Given the description of an element on the screen output the (x, y) to click on. 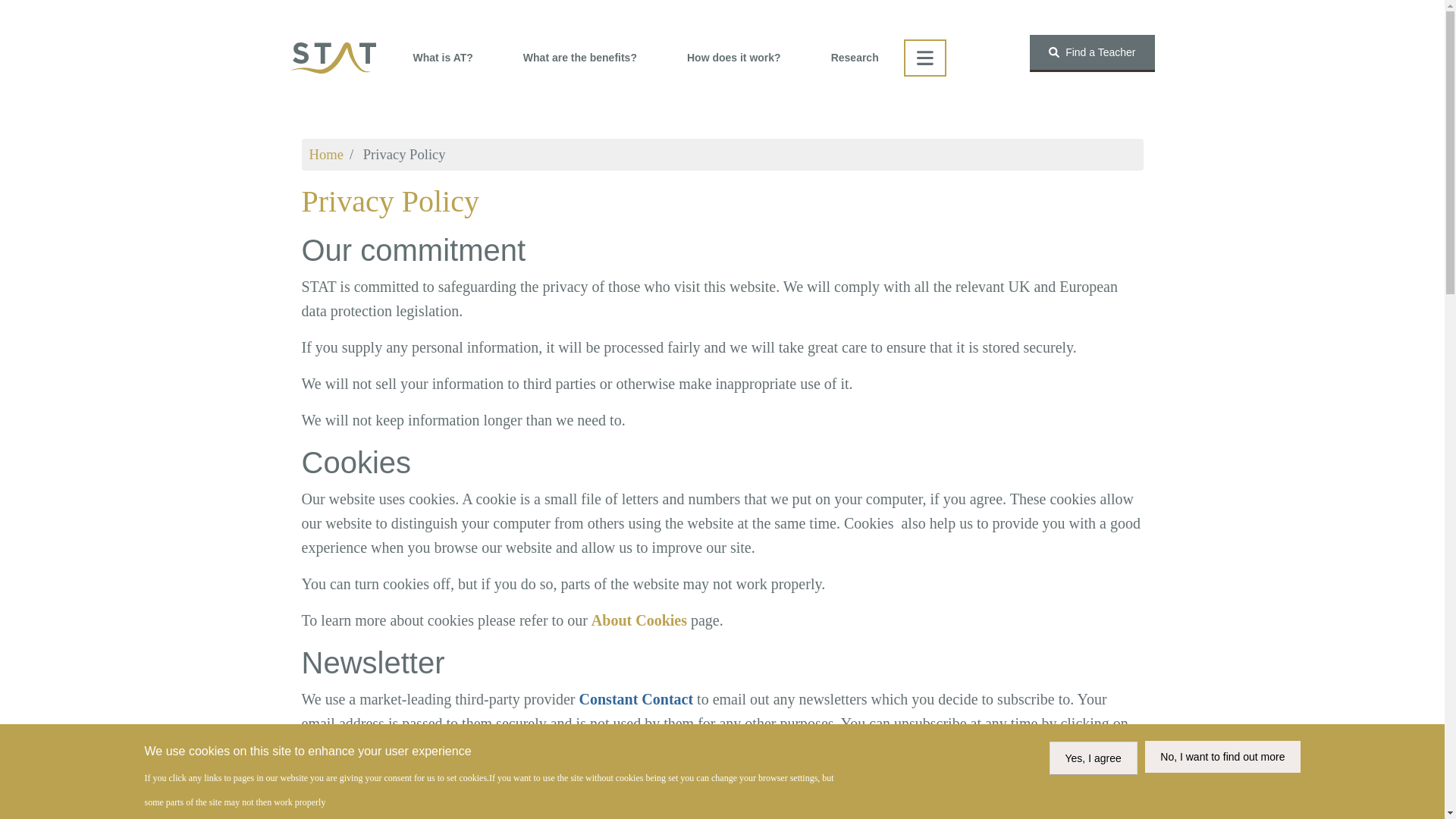
Constant Contact (636, 699)
How does it work? (733, 58)
What are the benefits? (579, 58)
 Find a Teacher (1091, 53)
Research (855, 58)
Home (332, 57)
About Cookies (639, 619)
Skip to main content (721, 116)
What is AT? (441, 58)
Home (325, 154)
